Given the description of an element on the screen output the (x, y) to click on. 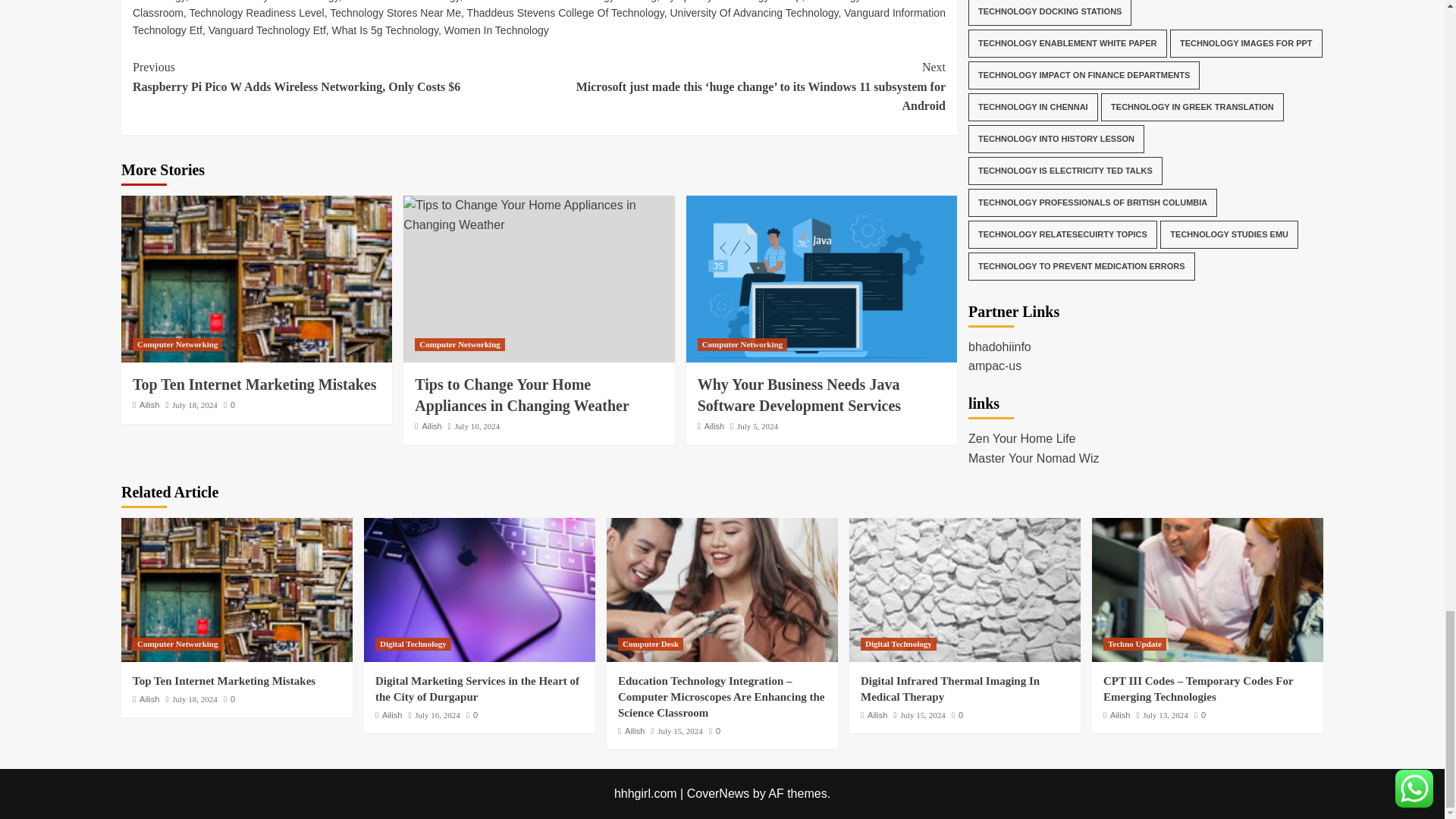
Top Ten Internet Marketing Mistakes (255, 278)
Top Ten Internet Marketing Mistakes (236, 589)
Why Your Business Needs Java Software Development Services (820, 278)
Digital Infrared Thermal Imaging In Medical Therapy (964, 589)
